Given the description of an element on the screen output the (x, y) to click on. 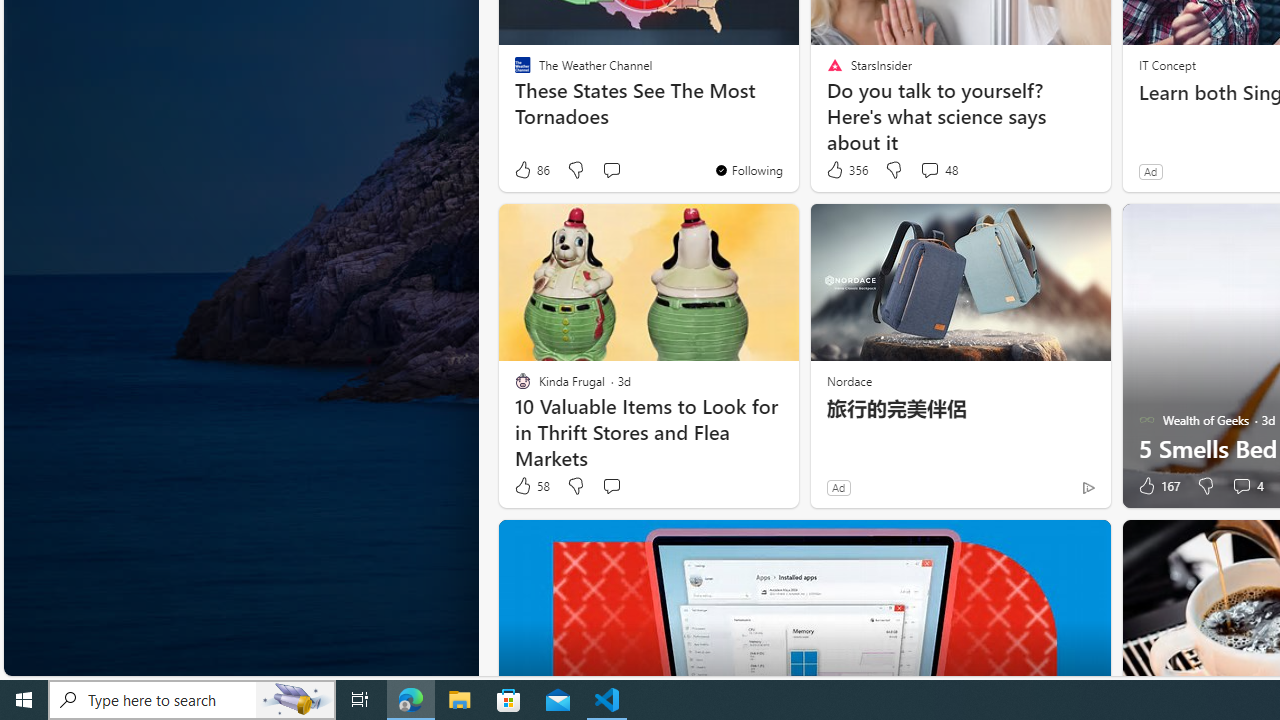
Dislike (1204, 485)
View comments 48 Comment (929, 169)
356 Like (845, 170)
